Given the description of an element on the screen output the (x, y) to click on. 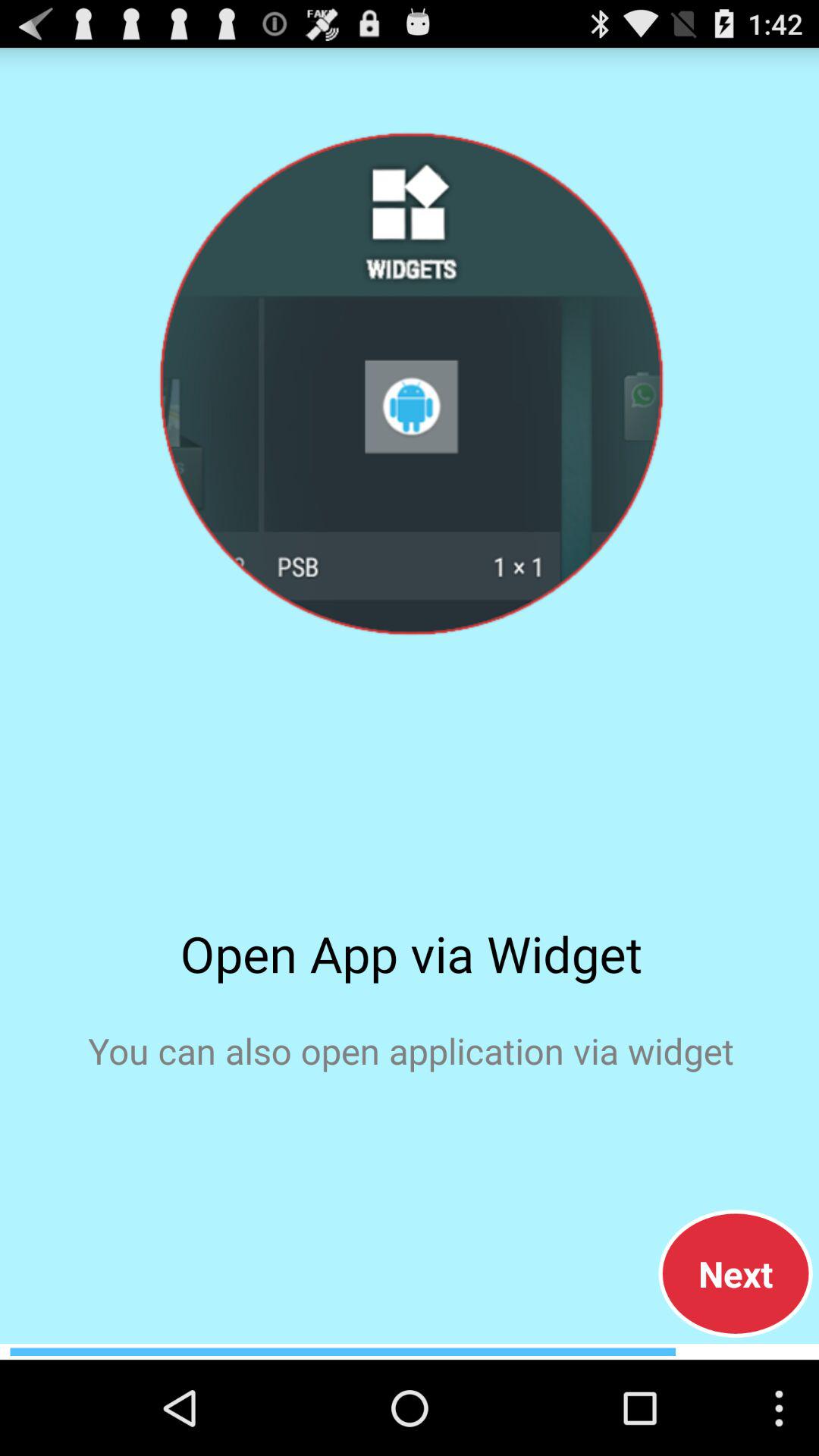
scroll until the next button (735, 1273)
